Given the description of an element on the screen output the (x, y) to click on. 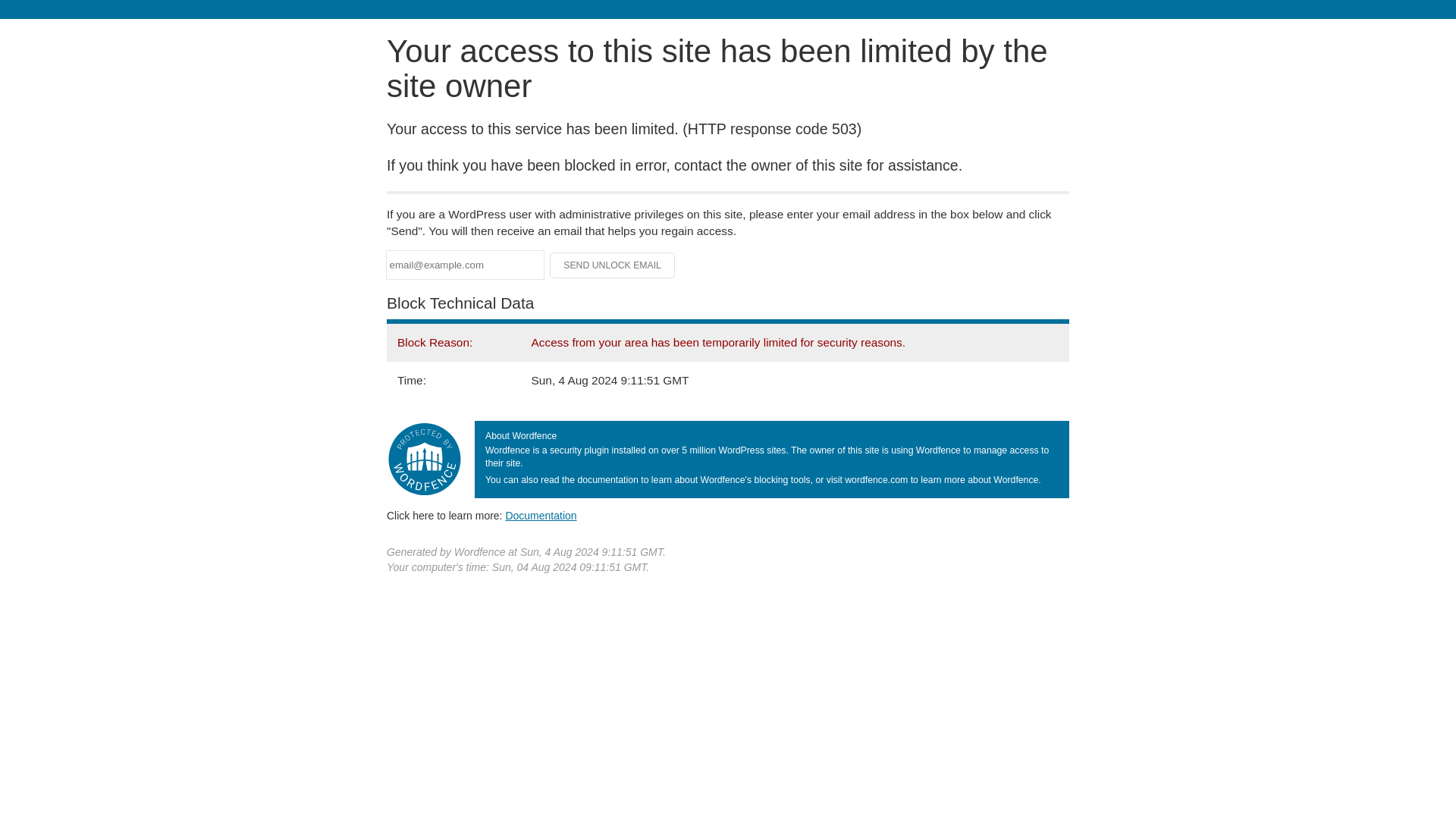
Documentation (540, 515)
Send Unlock Email (612, 265)
Send Unlock Email (612, 265)
